Given the description of an element on the screen output the (x, y) to click on. 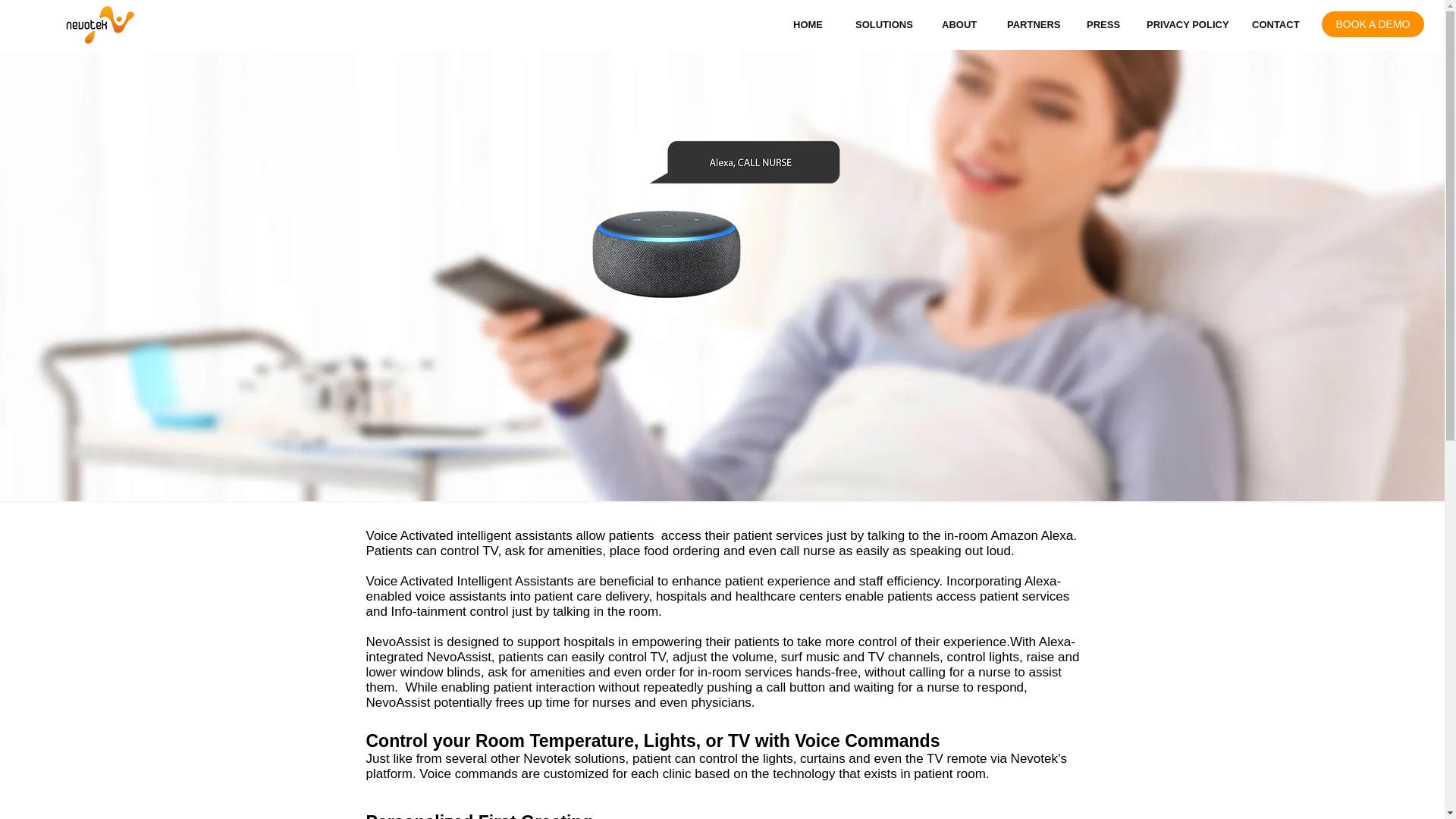
PRESS (1105, 24)
HOME (812, 24)
SOLUTIONS (887, 24)
PRIVACY POLICY (1187, 24)
BOOK A DEMO (1372, 23)
ABOUT (962, 24)
CONTACT (1279, 24)
PARTNERS (1035, 24)
